Given the description of an element on the screen output the (x, y) to click on. 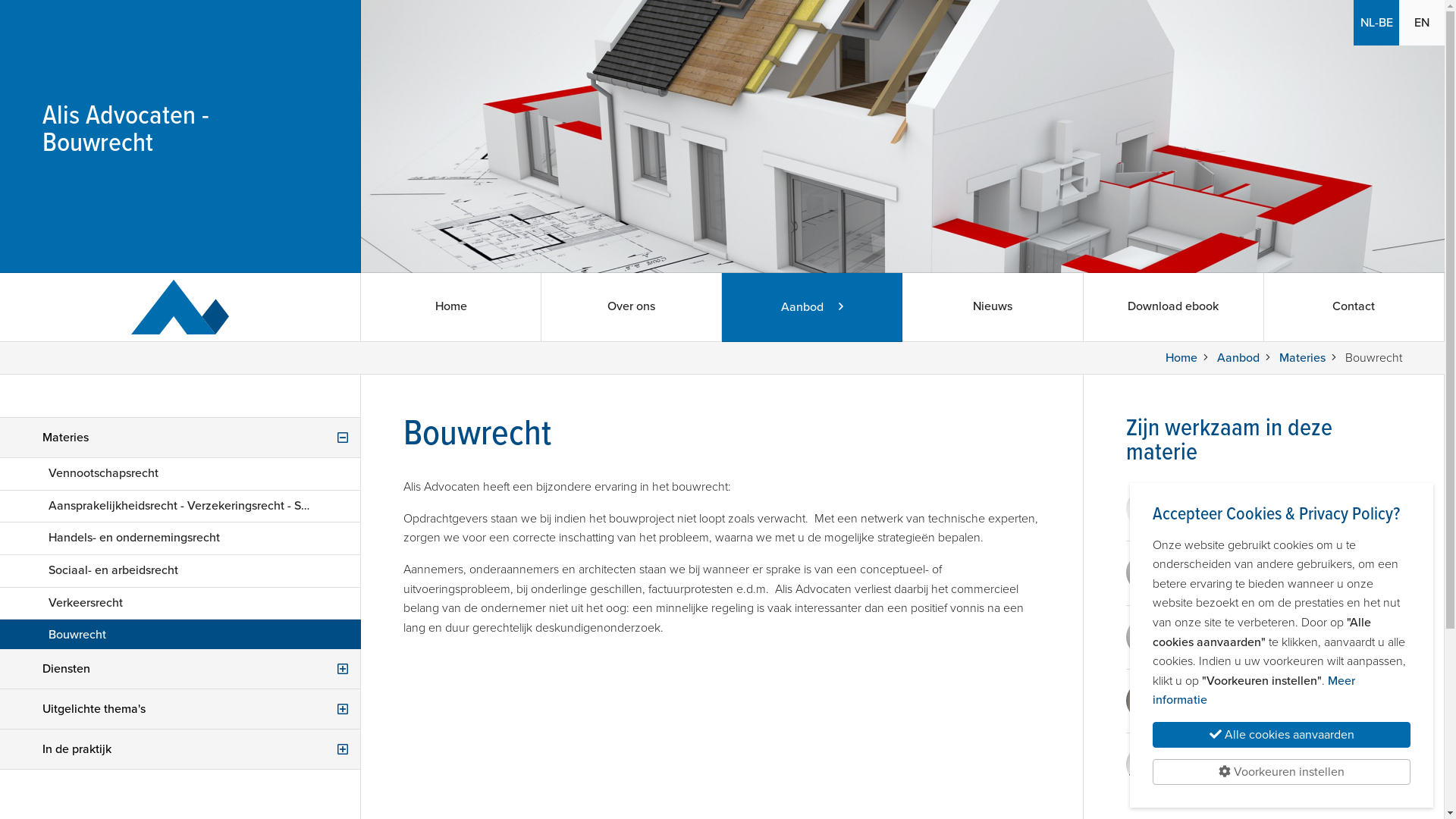
Over ons Element type: text (631, 307)
Materies Element type: text (1302, 357)
Home Element type: text (450, 307)
Aanbod Element type: text (1238, 357)
Materies Element type: text (180, 437)
Meer informatie Element type: text (1253, 690)
Contact Element type: text (1353, 307)
Stuur e-mail Element type: text (1214, 645)
EN Element type: text (1421, 22)
Sociaal- en arbeidsrecht Element type: text (180, 570)
Verkeersrecht Element type: text (180, 603)
Diensten Element type: text (180, 669)
Handels- en ondernemingsrecht Element type: text (180, 538)
Vennootschapsrecht Element type: text (180, 473)
Alle cookies aanvaarden Element type: text (1281, 734)
Uitgelichte thema's Element type: text (180, 709)
Stuur e-mail Element type: text (1214, 773)
Download ebook Element type: text (1173, 307)
Stuur e-mail Element type: text (1214, 518)
Stuur e-mail Element type: text (1214, 581)
Stuur e-mail Element type: text (1214, 709)
Aanbod Element type: text (811, 307)
Terug naar homepage Element type: hover (180, 307)
Home Element type: text (1181, 357)
Nieuws Element type: text (992, 307)
Bouwrecht Element type: text (180, 635)
NL-BE
(current) Element type: text (1376, 22)
Aansprakelijkheidsrecht - Verzekeringsrecht - Schade Element type: text (180, 506)
In de praktijk Element type: text (180, 749)
Voorkeuren instellen Element type: text (1281, 771)
